Given the description of an element on the screen output the (x, y) to click on. 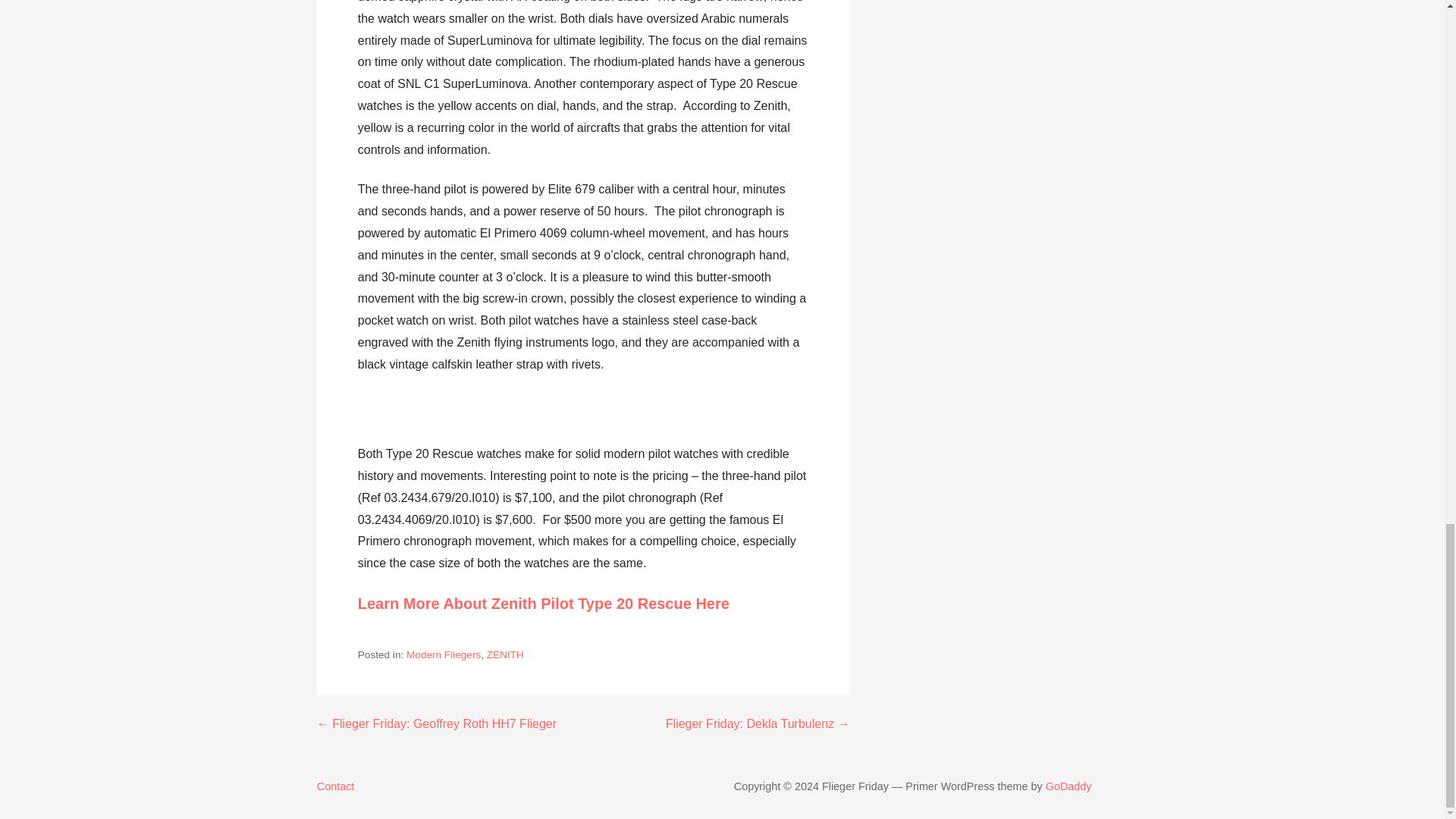
Modern Fliegers (443, 654)
Contact (513, 786)
Learn More About Zenith Pilot Type 20 Rescue Here (543, 603)
GoDaddy (1068, 786)
ZENITH (505, 654)
